Given the description of an element on the screen output the (x, y) to click on. 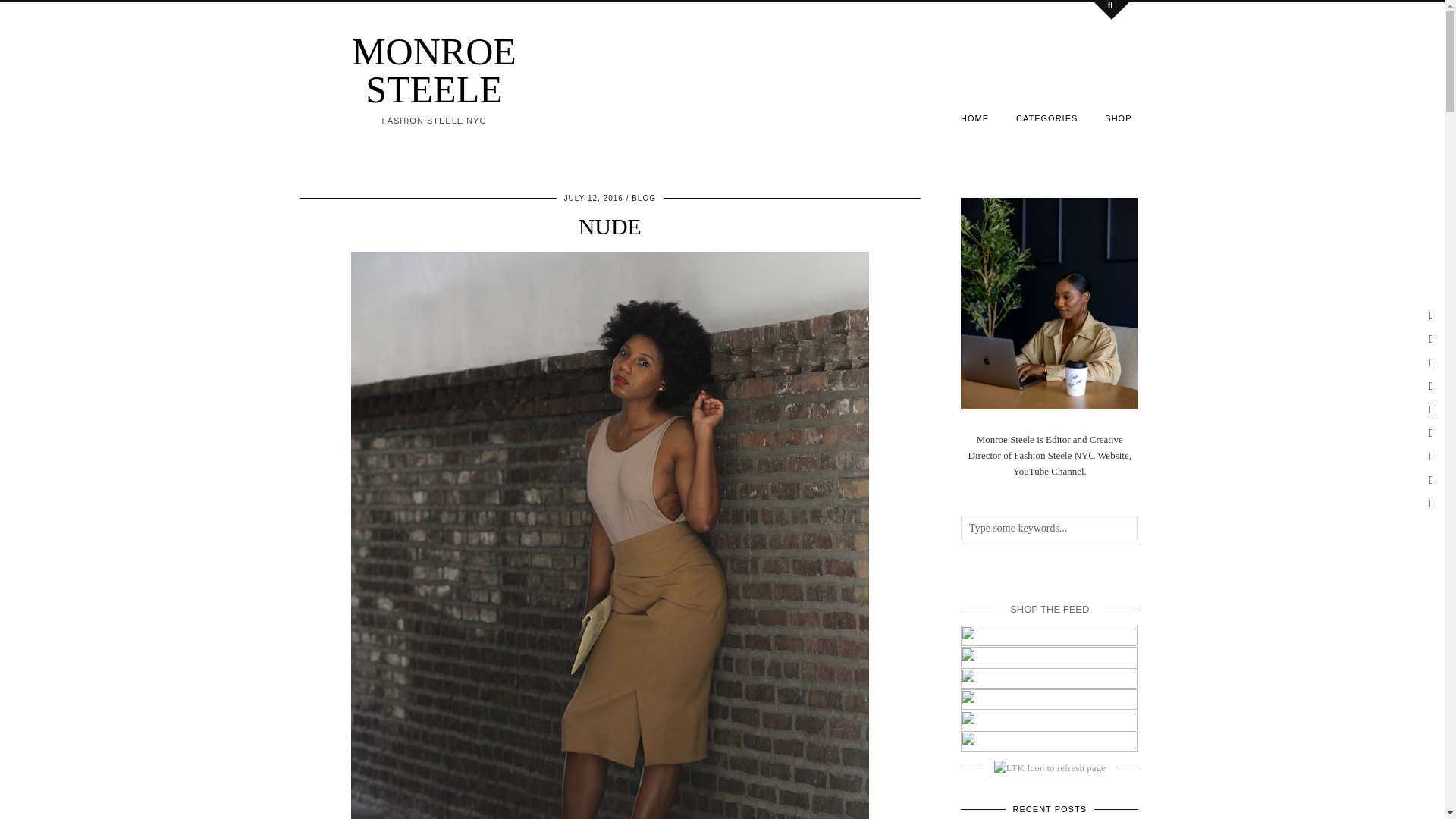
MONROE STEELE (434, 70)
